Given the description of an element on the screen output the (x, y) to click on. 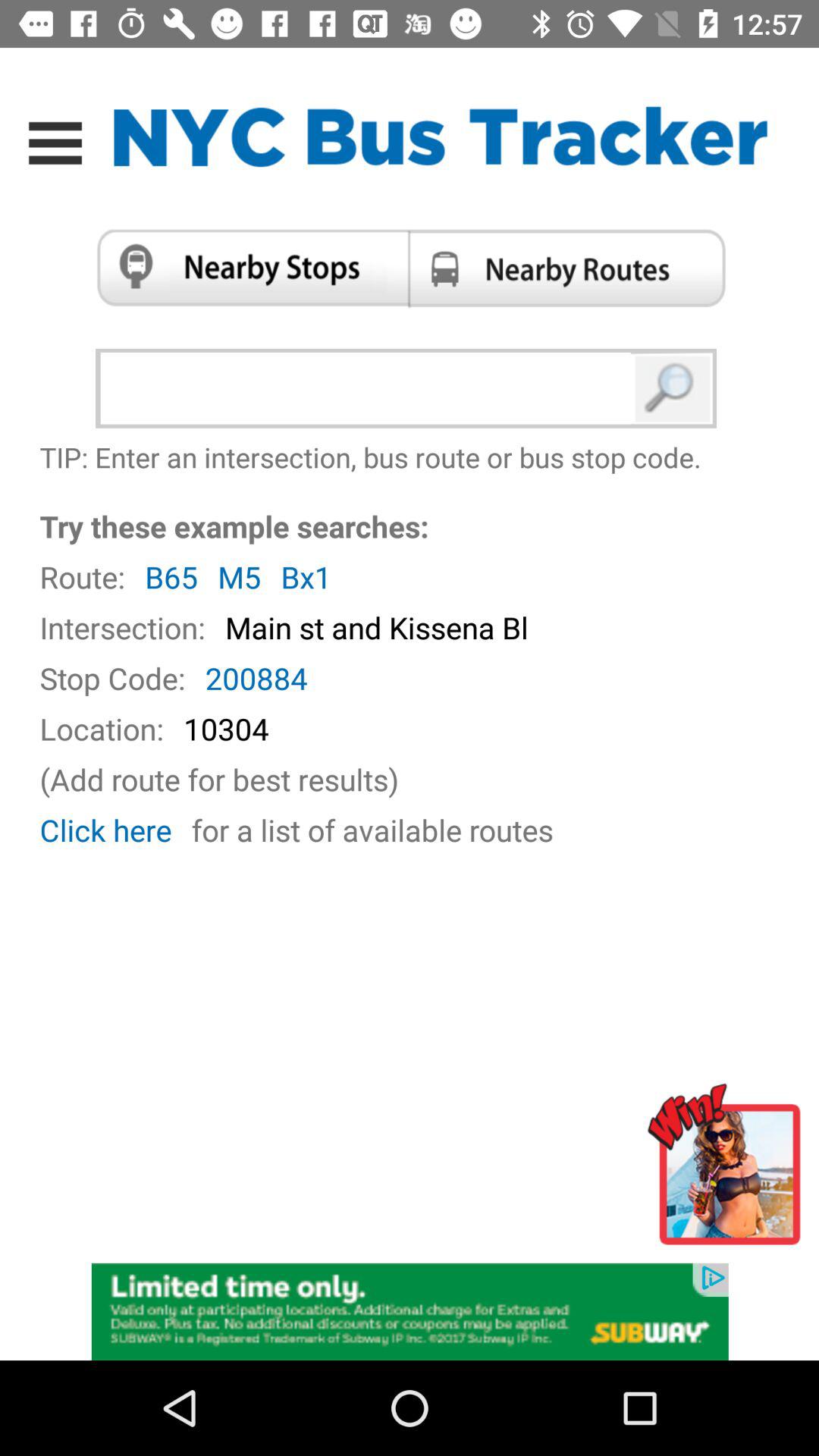
advertisement (729, 1170)
